Given the description of an element on the screen output the (x, y) to click on. 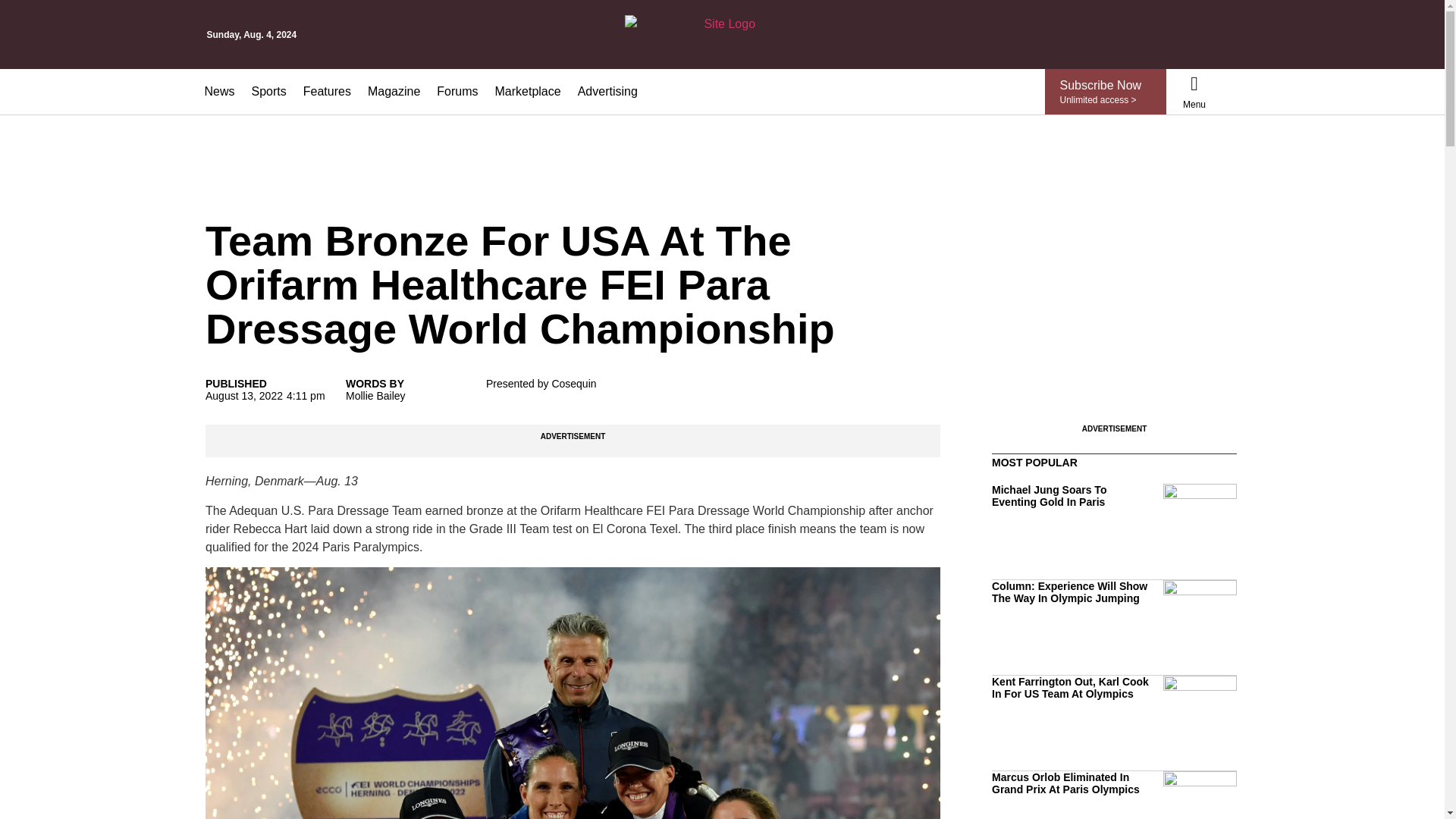
Features (327, 91)
Magazine (393, 91)
News (219, 91)
Sports (269, 91)
